Given the description of an element on the screen output the (x, y) to click on. 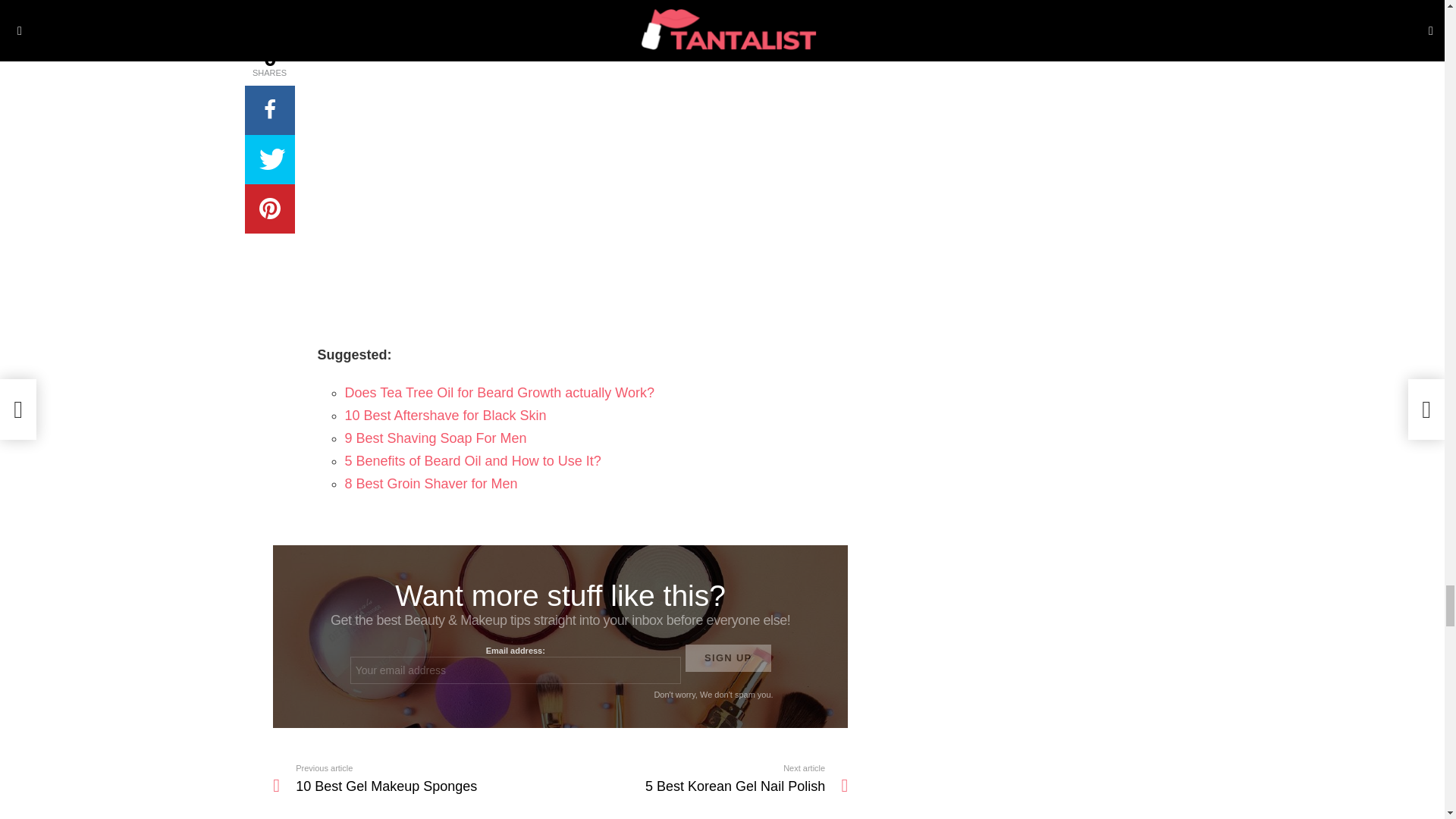
Sign up (728, 657)
